Given the description of an element on the screen output the (x, y) to click on. 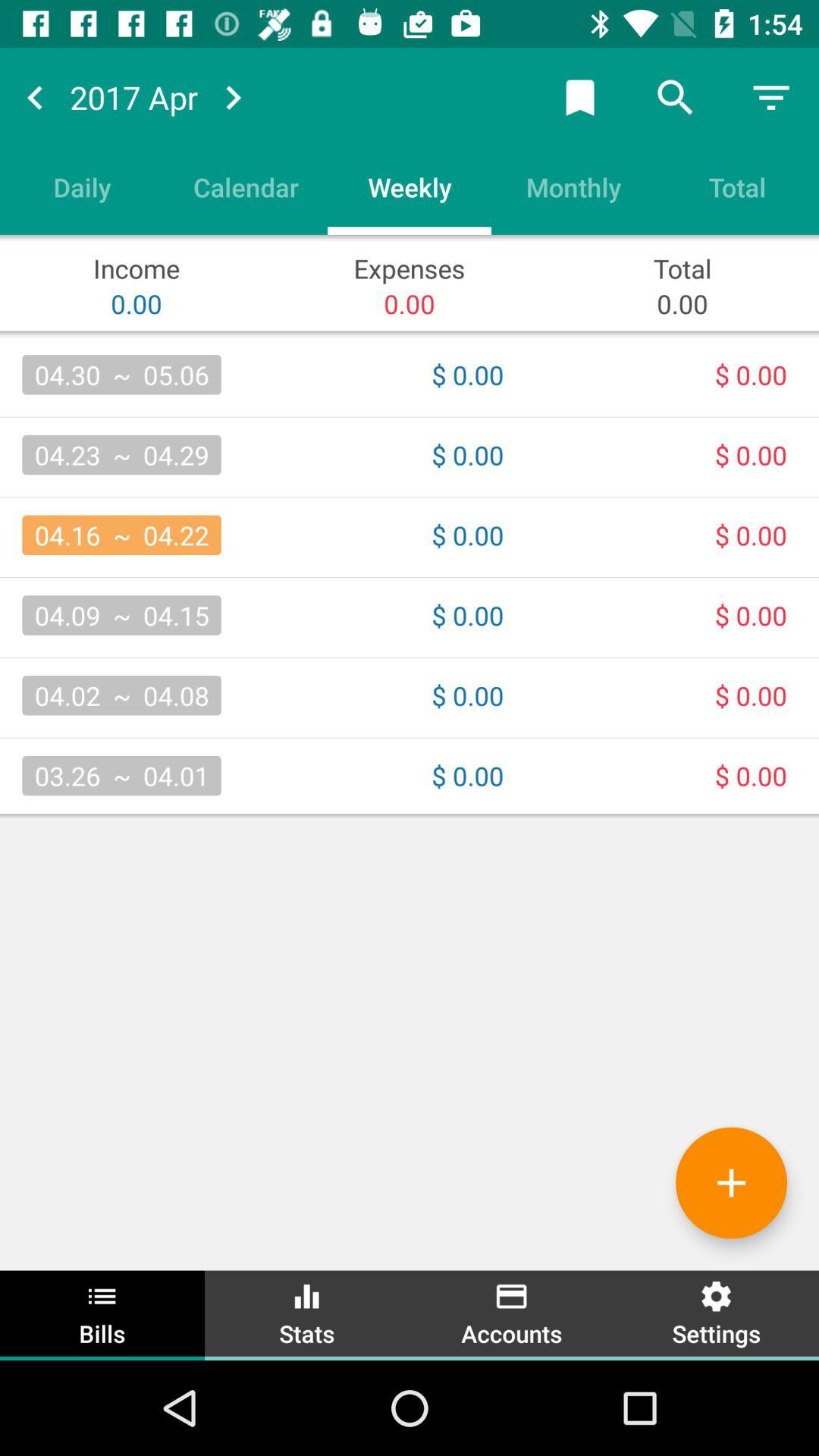
go back (34, 97)
